Given the description of an element on the screen output the (x, y) to click on. 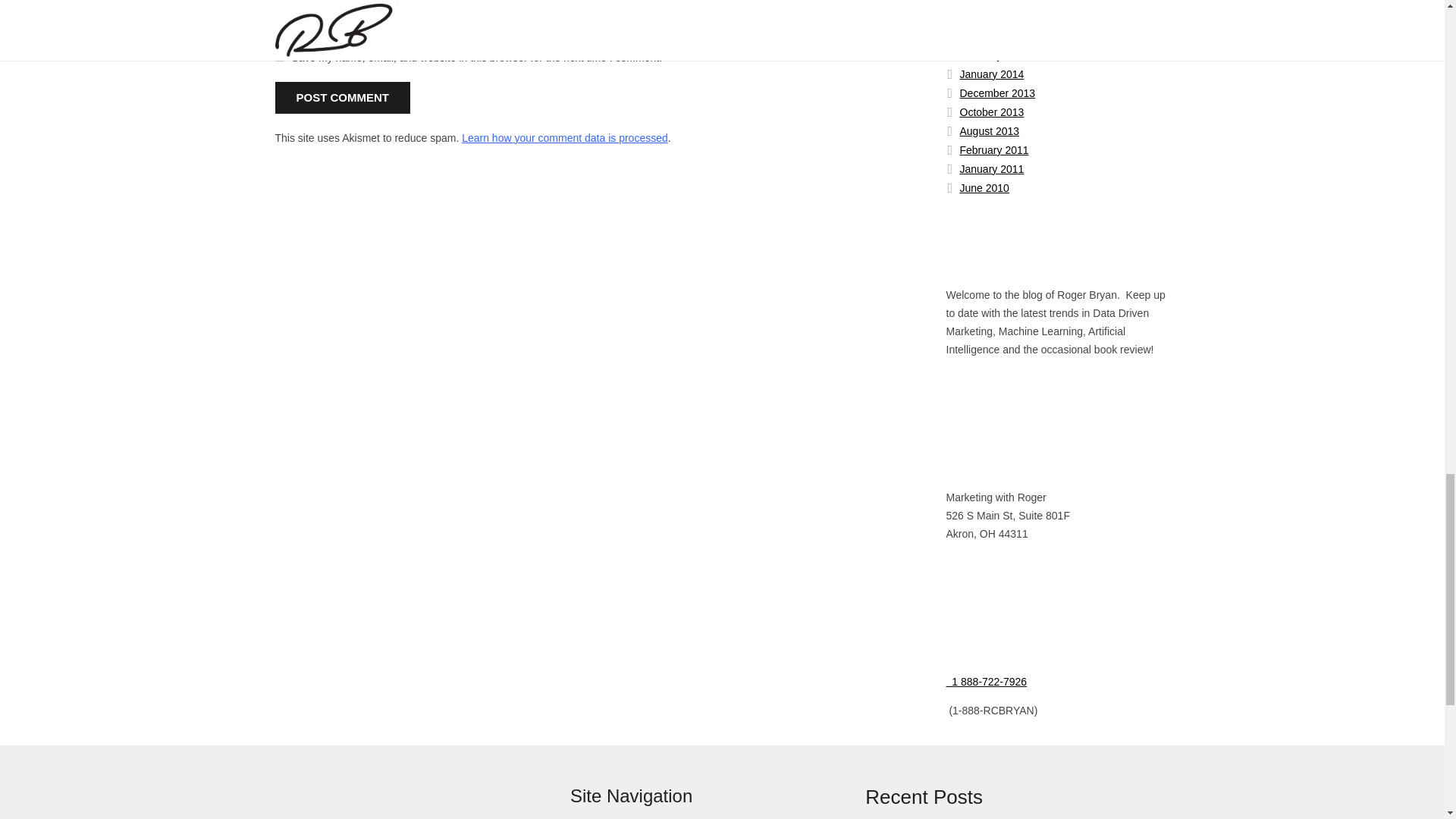
Learn how your comment data is processed (564, 137)
yes (279, 56)
Post Comment (342, 97)
Post Comment (342, 97)
